Given the description of an element on the screen output the (x, y) to click on. 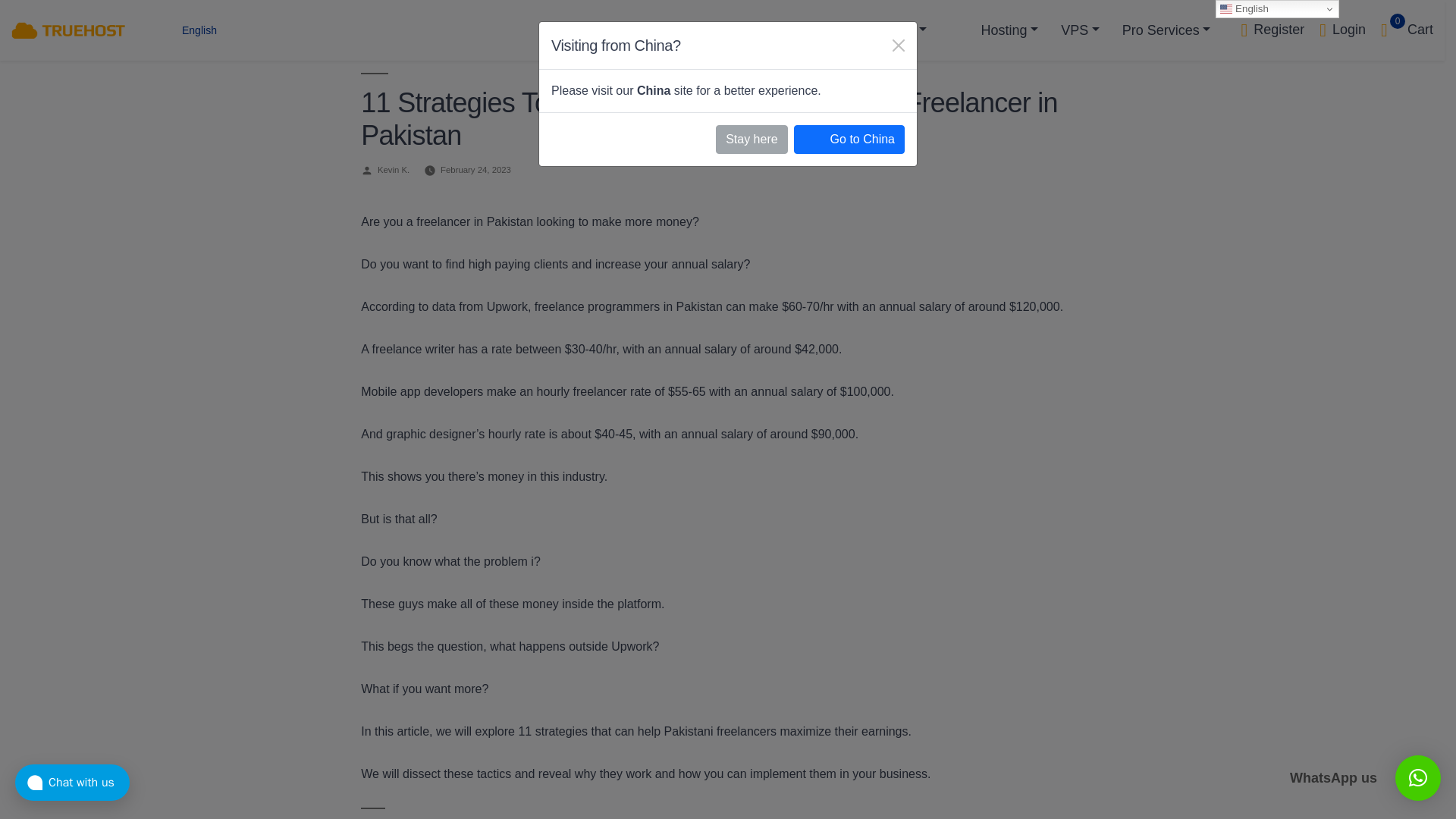
Pricing (807, 29)
English (185, 30)
Domains (891, 29)
Hosting (1010, 29)
VPS (1406, 29)
Login (1080, 29)
Pro Services (1342, 29)
Register (1166, 29)
